Given the description of an element on the screen output the (x, y) to click on. 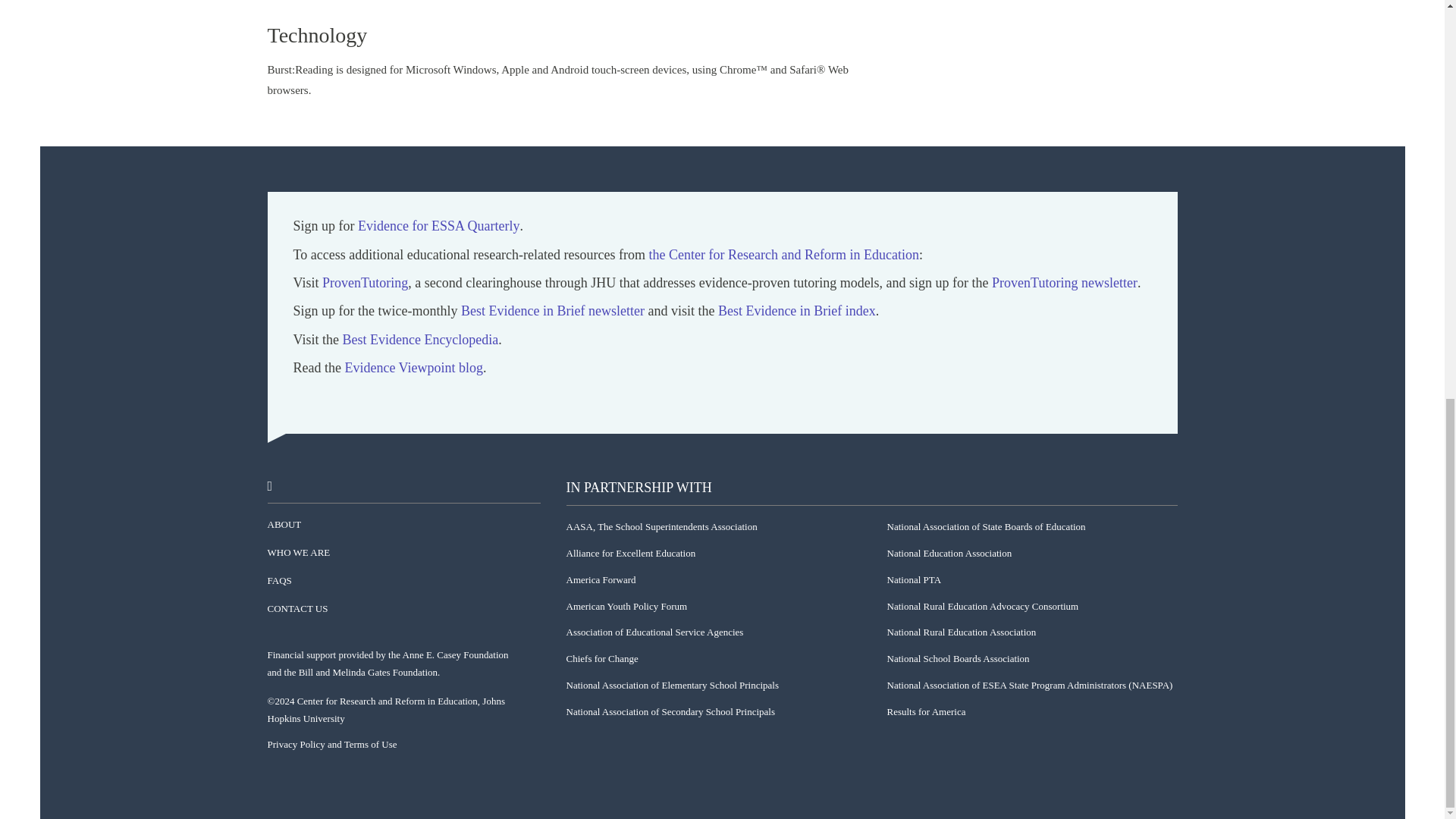
Best Evidence Encyclopedia (419, 339)
Evidence for ESSA Quarterly (438, 226)
Privacy Policy and Terms of Use (331, 744)
ProvenTutoring newsletter (1064, 282)
ProvenTutoring (364, 282)
FAQS (278, 581)
CONTACT US (296, 608)
Best Evidence in Brief index (796, 311)
the Center for Research and Reform in Education (783, 254)
Evidence Viewpoint blog (413, 367)
